Given the description of an element on the screen output the (x, y) to click on. 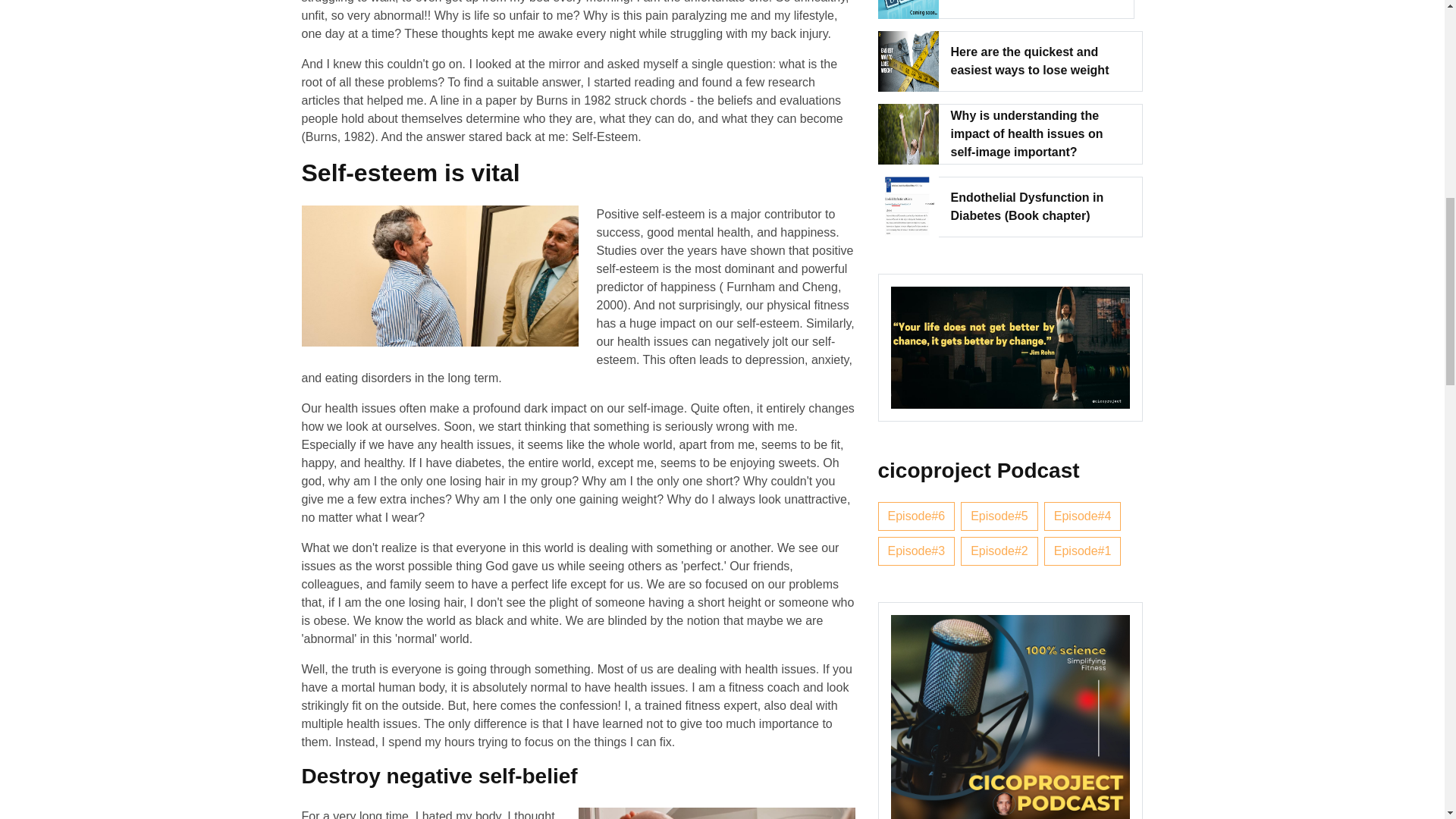
Here are the quickest and easiest ways to lose weight (1040, 61)
